Given the description of an element on the screen output the (x, y) to click on. 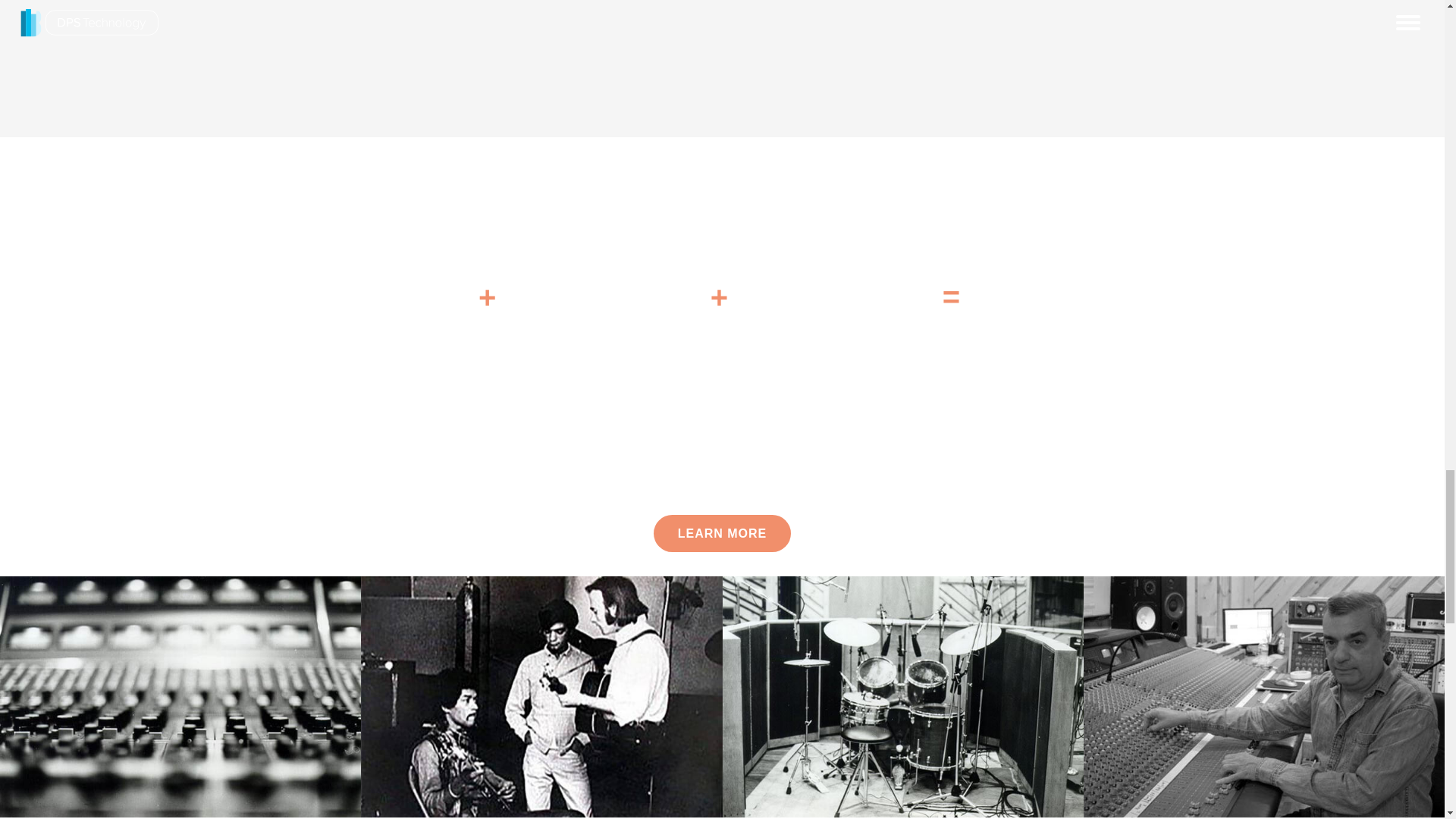
Learn how Bongiovi can improve your audio products (722, 533)
LEARN MORE (722, 533)
